Given the description of an element on the screen output the (x, y) to click on. 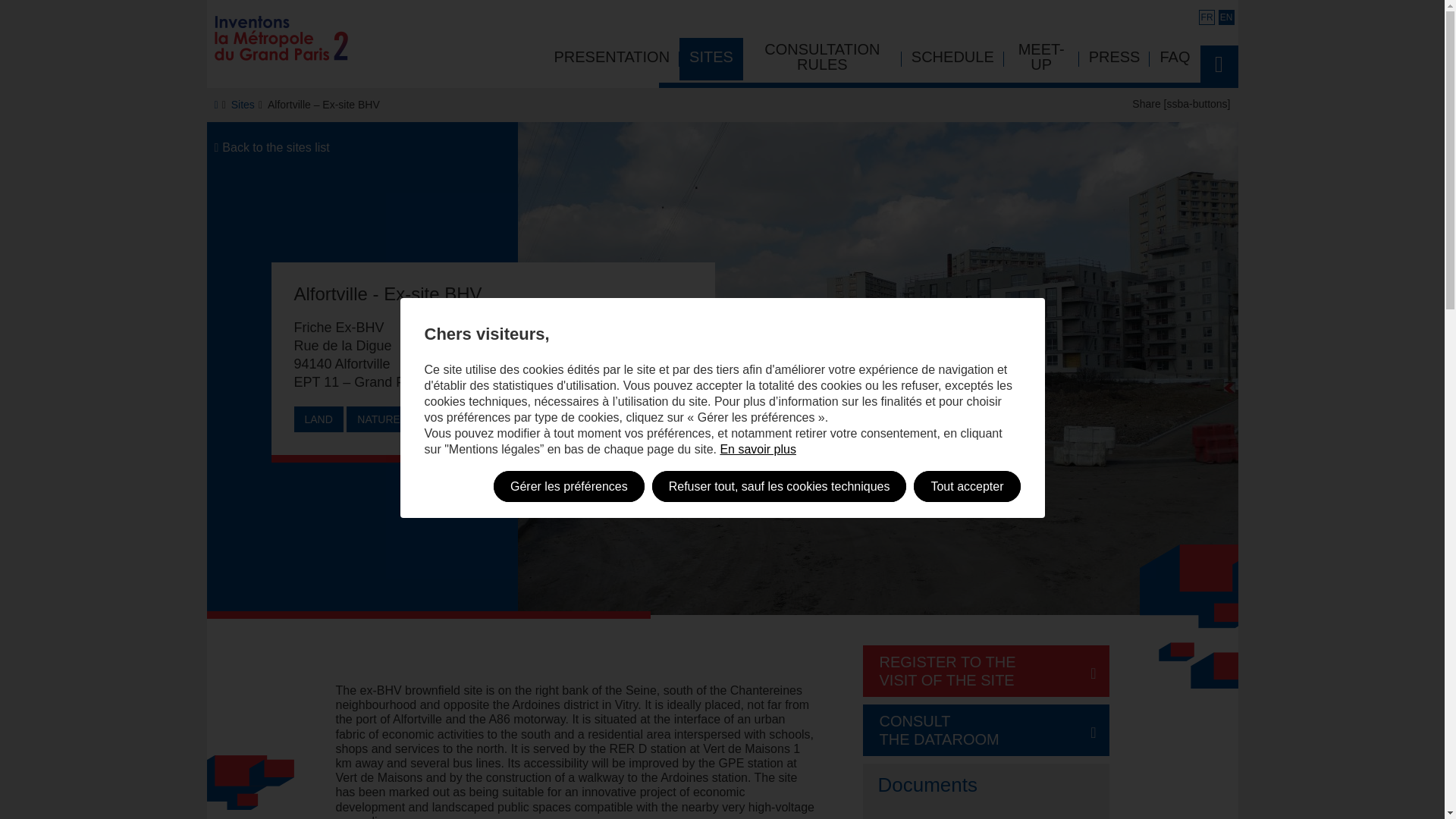
Back to the sites list (271, 146)
CONSULTATION RULES (821, 58)
FAQ (1174, 58)
EN (1225, 17)
FR (1206, 17)
PRESS (986, 729)
MEET-UP (1114, 58)
Sites (986, 670)
SCHEDULE (1041, 58)
SITES (242, 104)
PRESENTATION (952, 58)
